Given the description of an element on the screen output the (x, y) to click on. 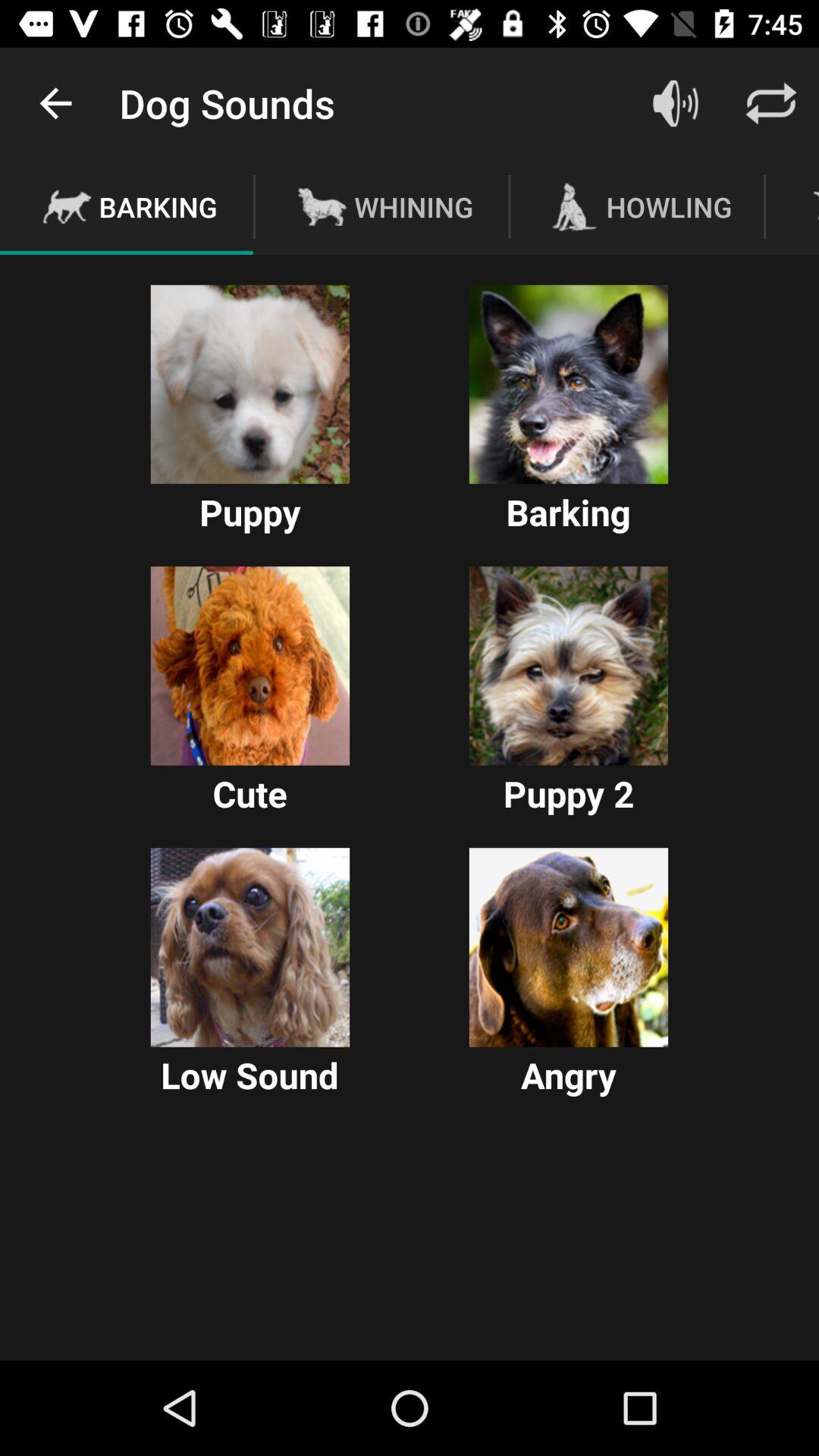
angry dog (568, 947)
